Given the description of an element on the screen output the (x, y) to click on. 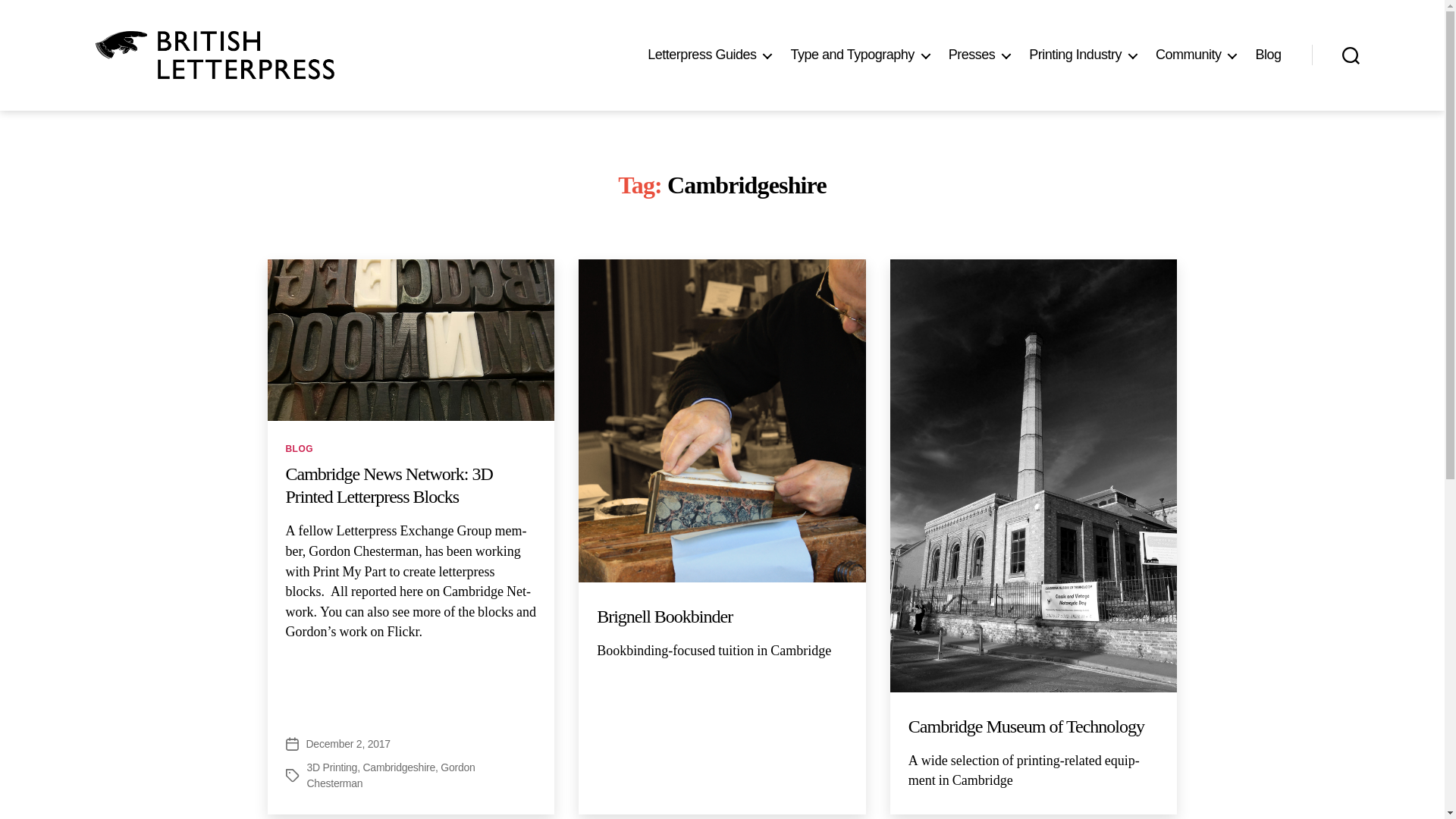
Letterpress Guides (709, 54)
